Given the description of an element on the screen output the (x, y) to click on. 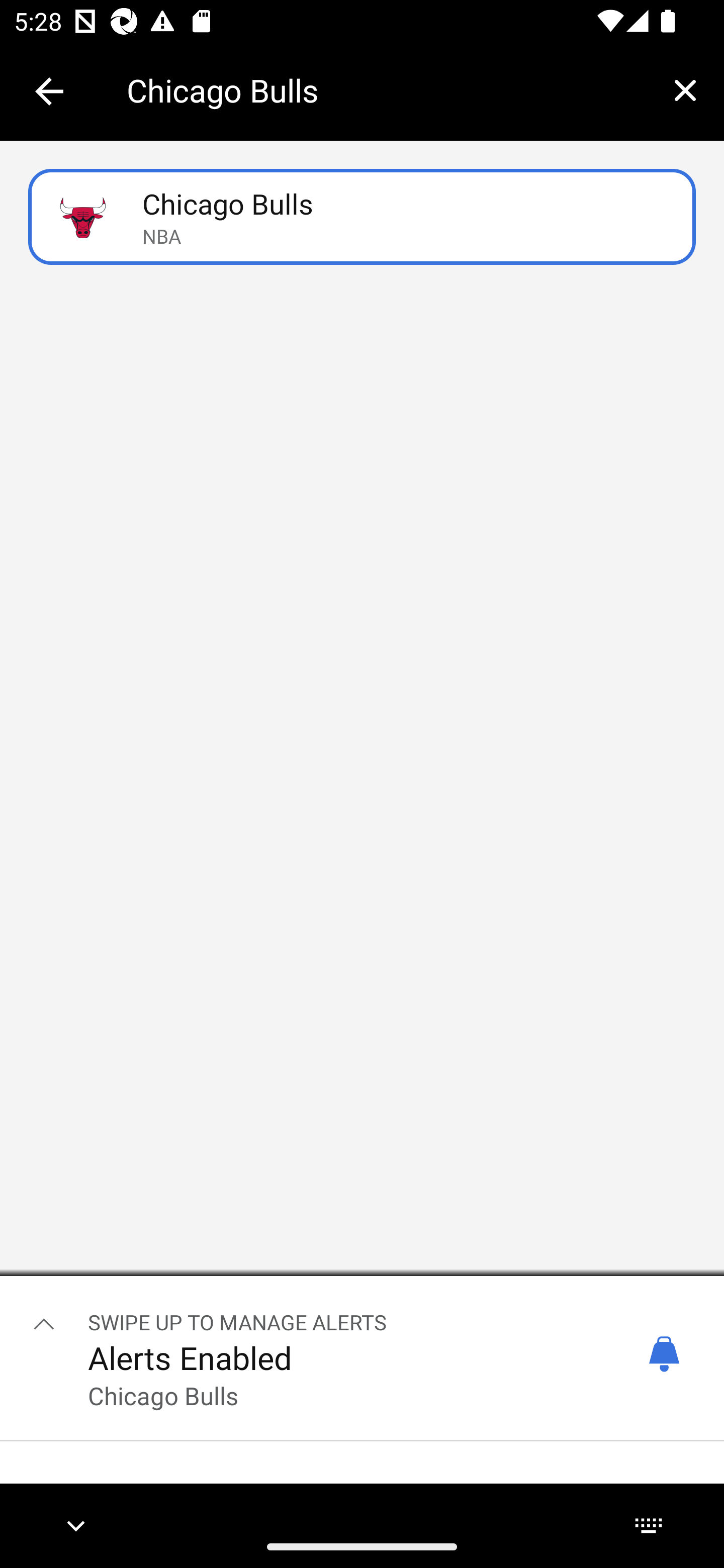
Collapse (49, 91)
Clear query (685, 89)
Chicago Bulls (386, 90)
Chicago Bulls Chicago BullsSelected NBA (361, 216)
 (44, 1323)
